Given the description of an element on the screen output the (x, y) to click on. 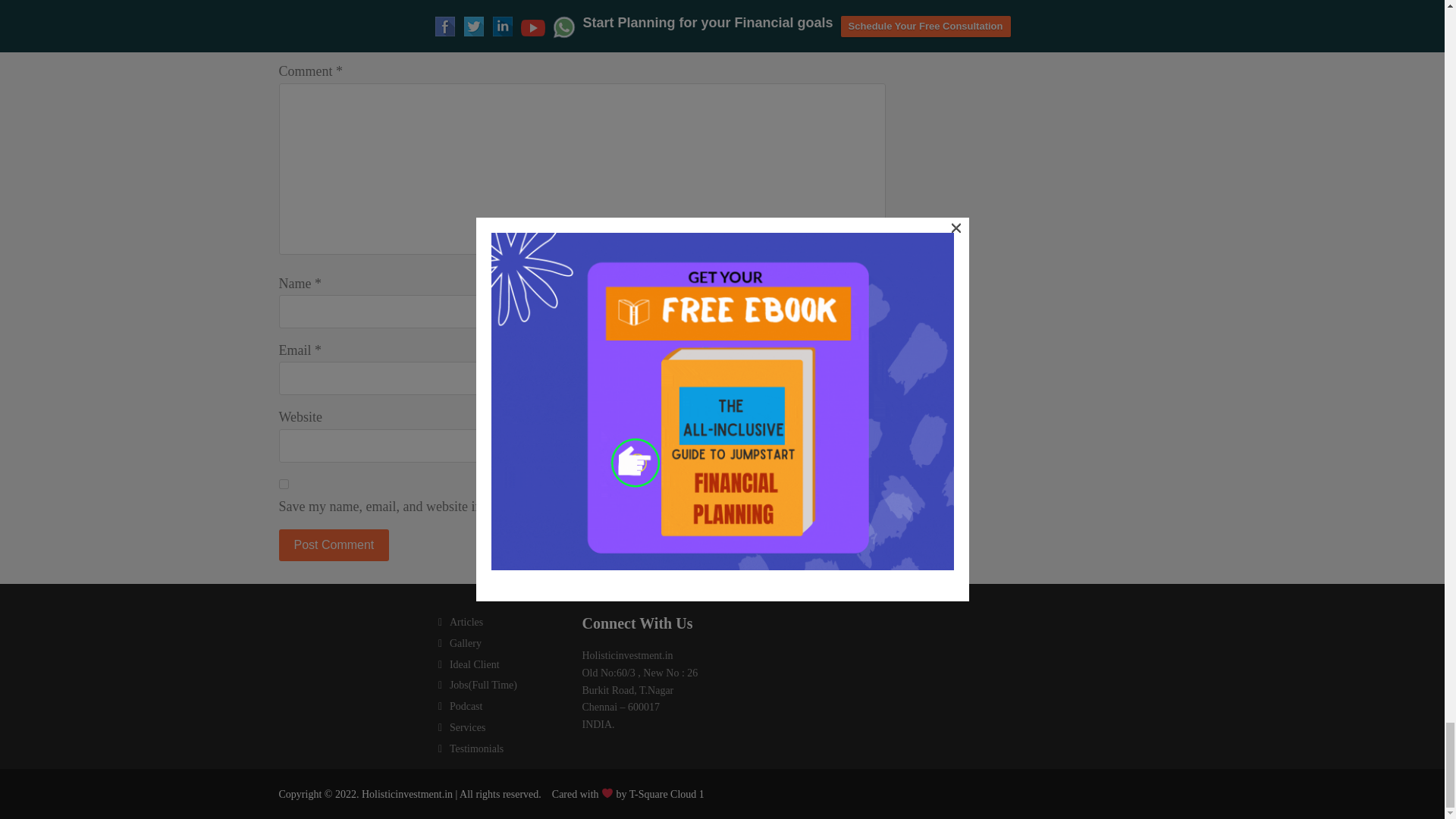
yes (283, 483)
Post Comment (334, 545)
